Given the description of an element on the screen output the (x, y) to click on. 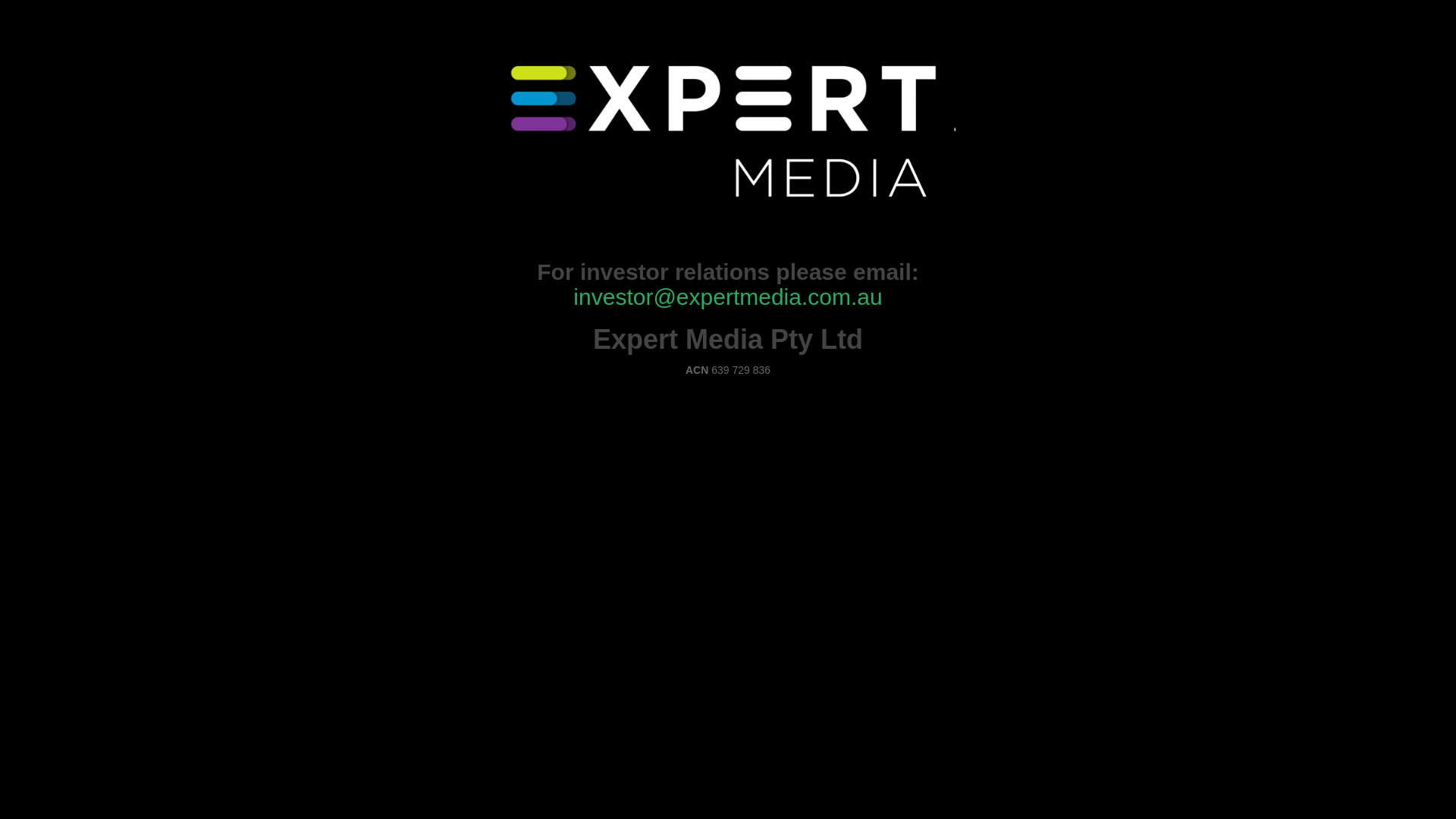
investor@expertmedia.com.au Element type: text (727, 296)
